Given the description of an element on the screen output the (x, y) to click on. 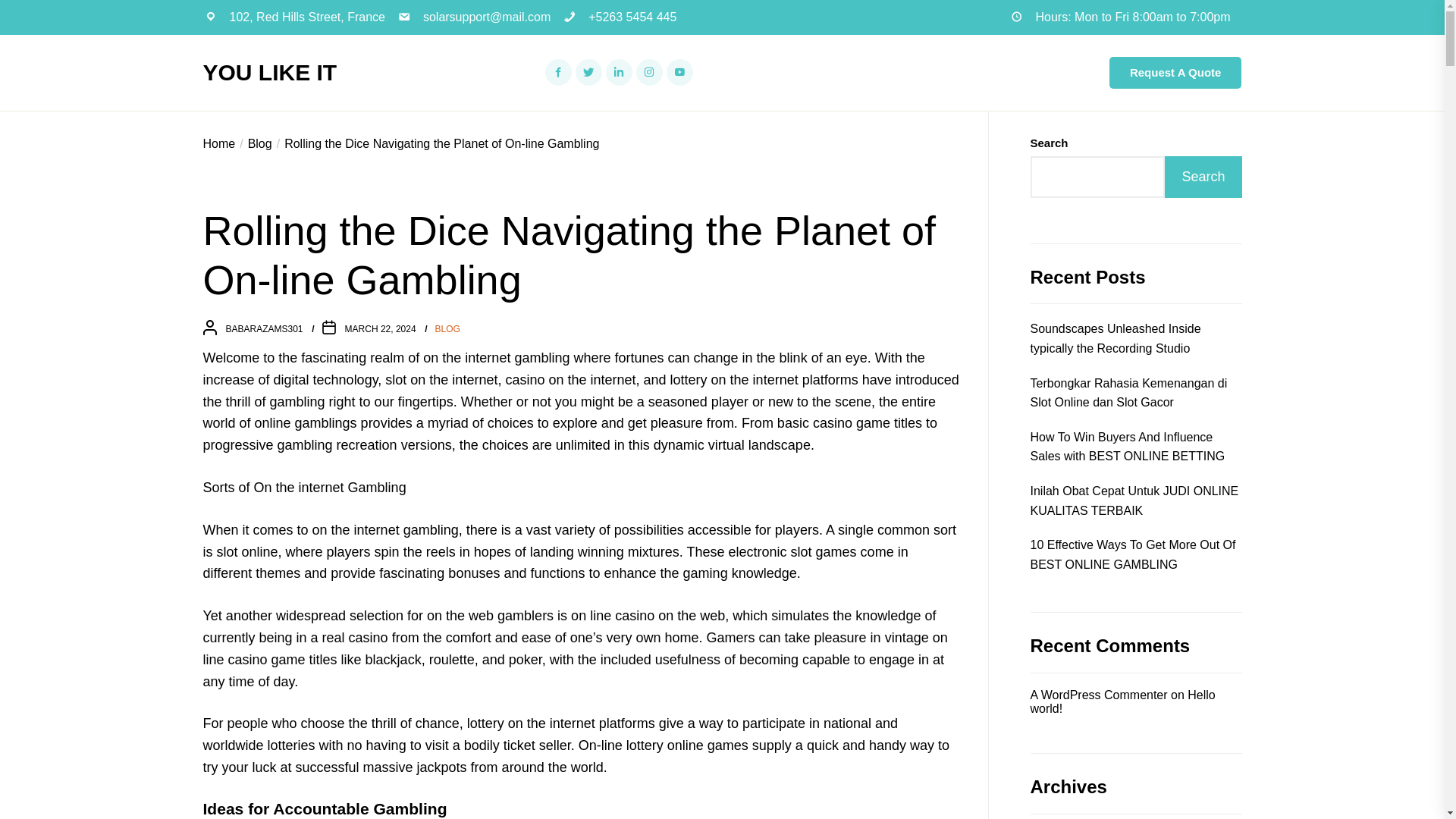
Soundscapes Unleashed Inside typically the Recording Studio (1135, 338)
Terbongkar Rahasia Kemenangan di Slot Online dan Slot Gacor (1135, 392)
Request A Quote (1175, 72)
BABARAZAMS301 (263, 328)
MARCH 22, 2024 (380, 328)
10 Effective Ways To Get More Out Of BEST ONLINE GAMBLING (1135, 554)
Blog (252, 143)
Hello world! (1121, 701)
Search (1202, 177)
YOU LIKE IT (270, 72)
BLOG (447, 329)
A WordPress Commenter (1098, 694)
Inilah Obat Cepat Untuk JUDI ONLINE KUALITAS TERBAIK (1135, 500)
Rolling the Dice Navigating the Planet of On-line Gambling (435, 143)
